Given the description of an element on the screen output the (x, y) to click on. 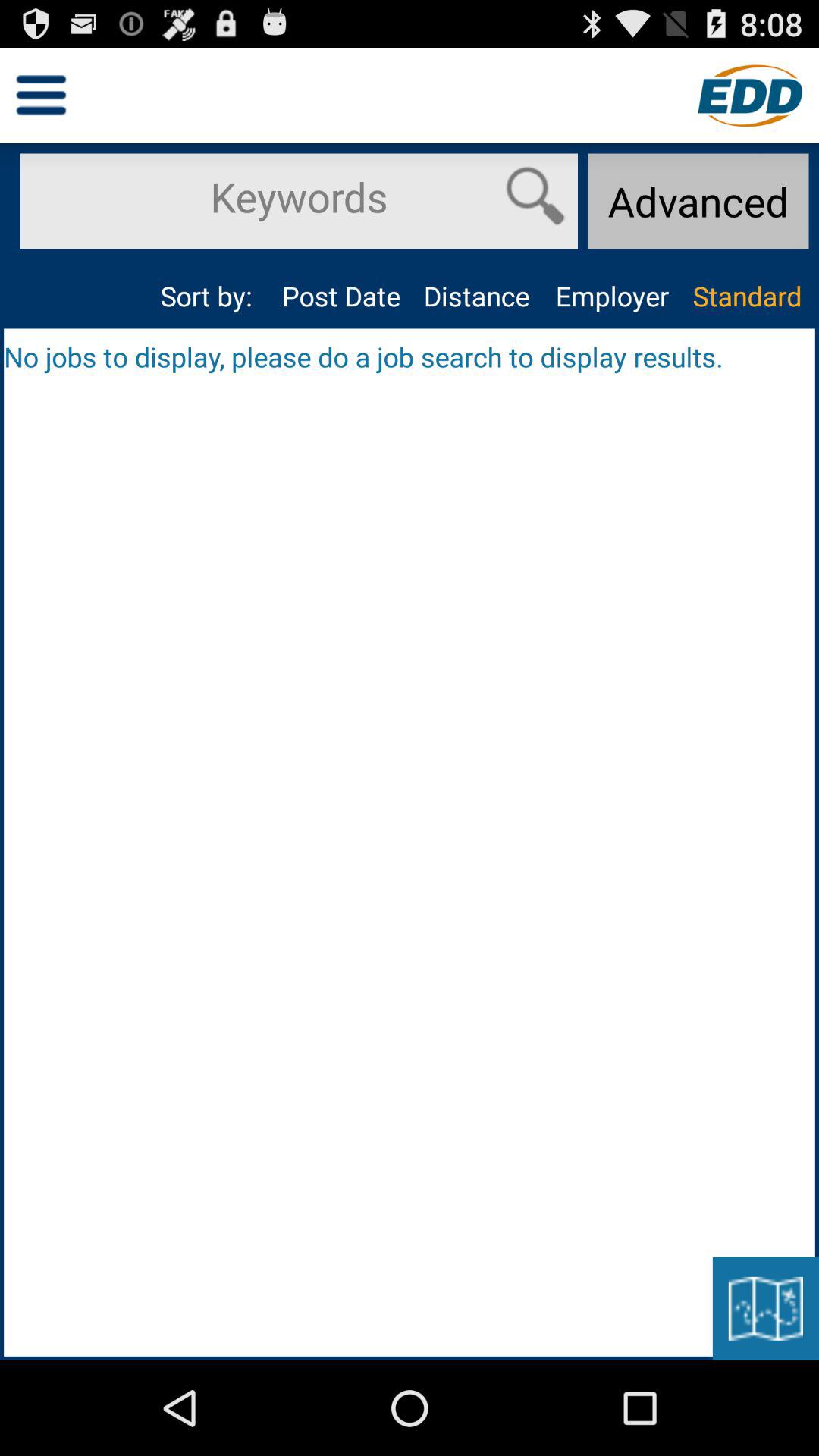
choose item next to post date icon (476, 295)
